Given the description of an element on the screen output the (x, y) to click on. 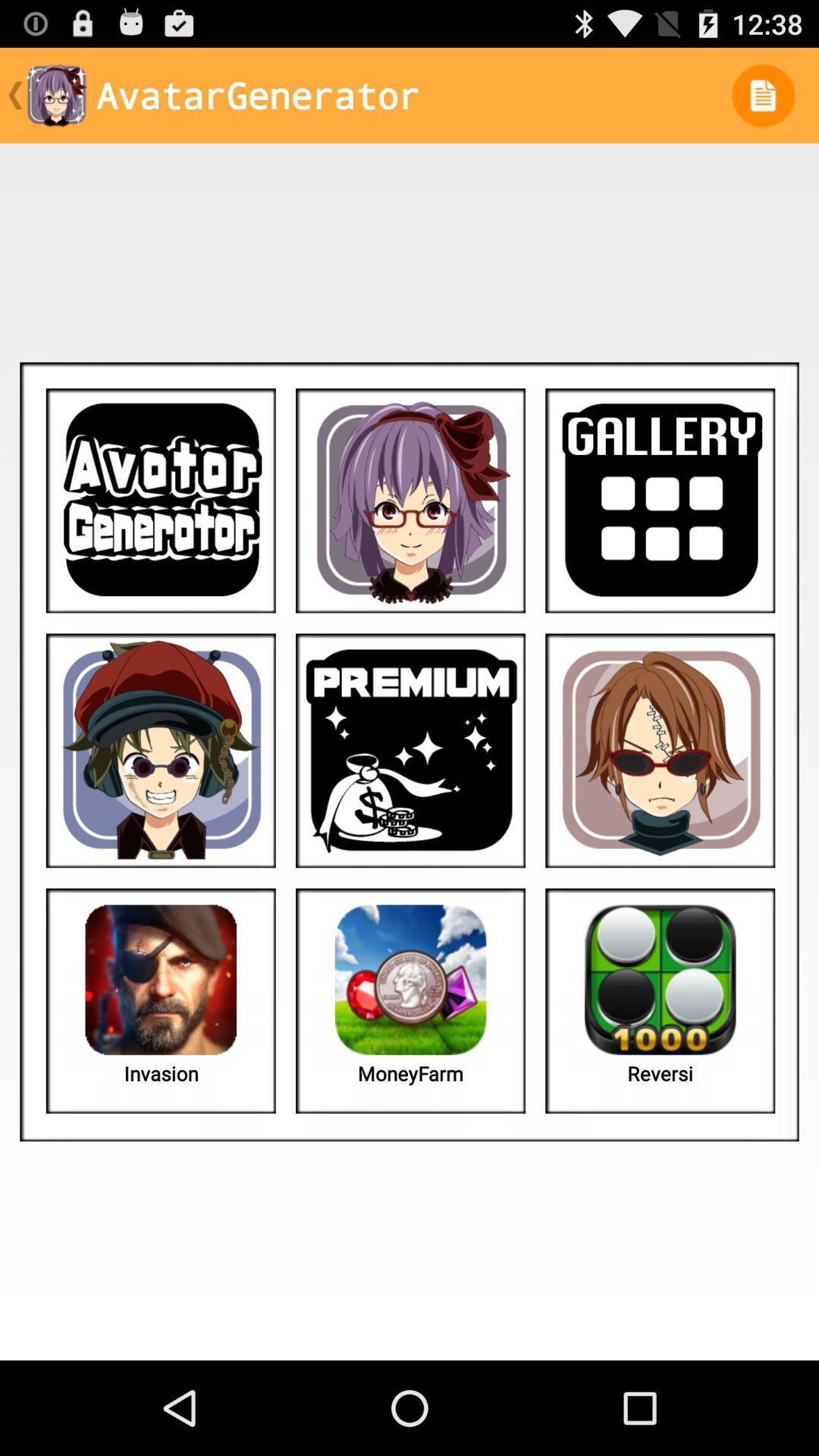
select the first image (160, 500)
go to the first image in the second row (160, 750)
select the icon which is just below the time (763, 95)
select the second image in the last row (410, 1004)
click on the second image in the first row (410, 500)
click on the second image in the second row (410, 750)
